Given the description of an element on the screen output the (x, y) to click on. 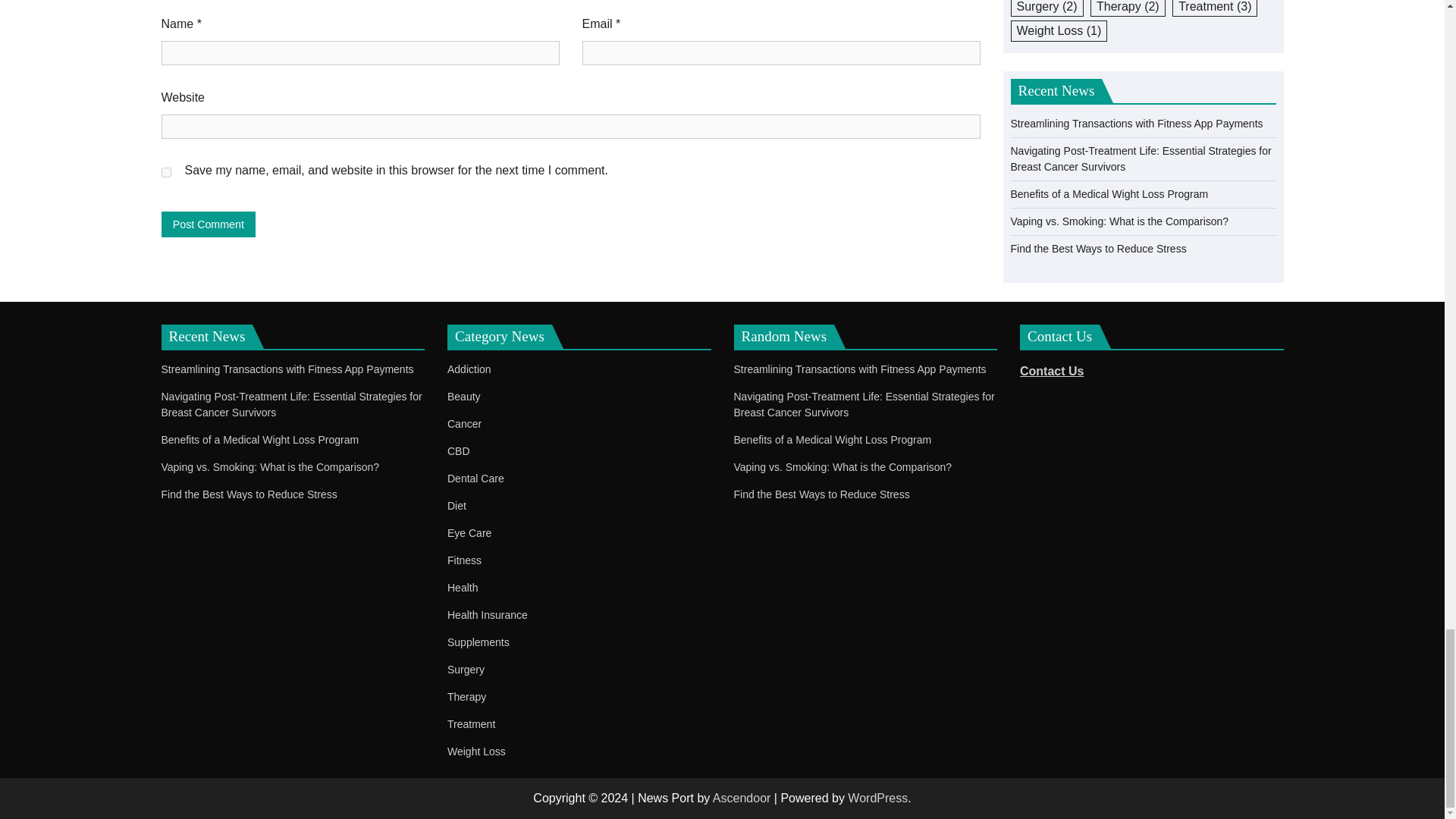
Post Comment (208, 223)
yes (165, 172)
